Given the description of an element on the screen output the (x, y) to click on. 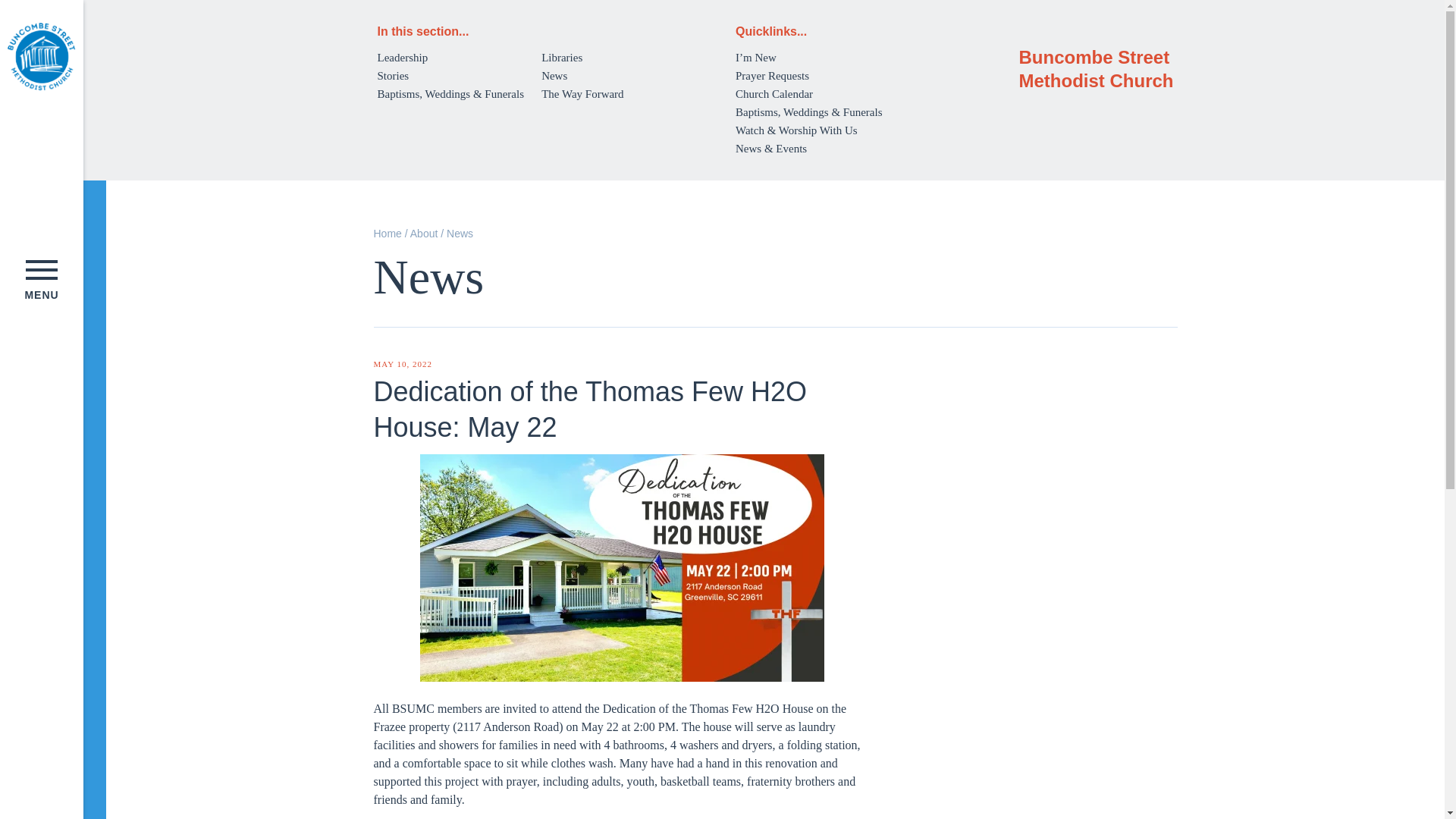
About (3, 296)
MENU (41, 279)
Church Calendar (3, 170)
Buncombe Street Methodist Church (41, 56)
Sundays (3, 327)
Prayer Requests (3, 143)
